Given the description of an element on the screen output the (x, y) to click on. 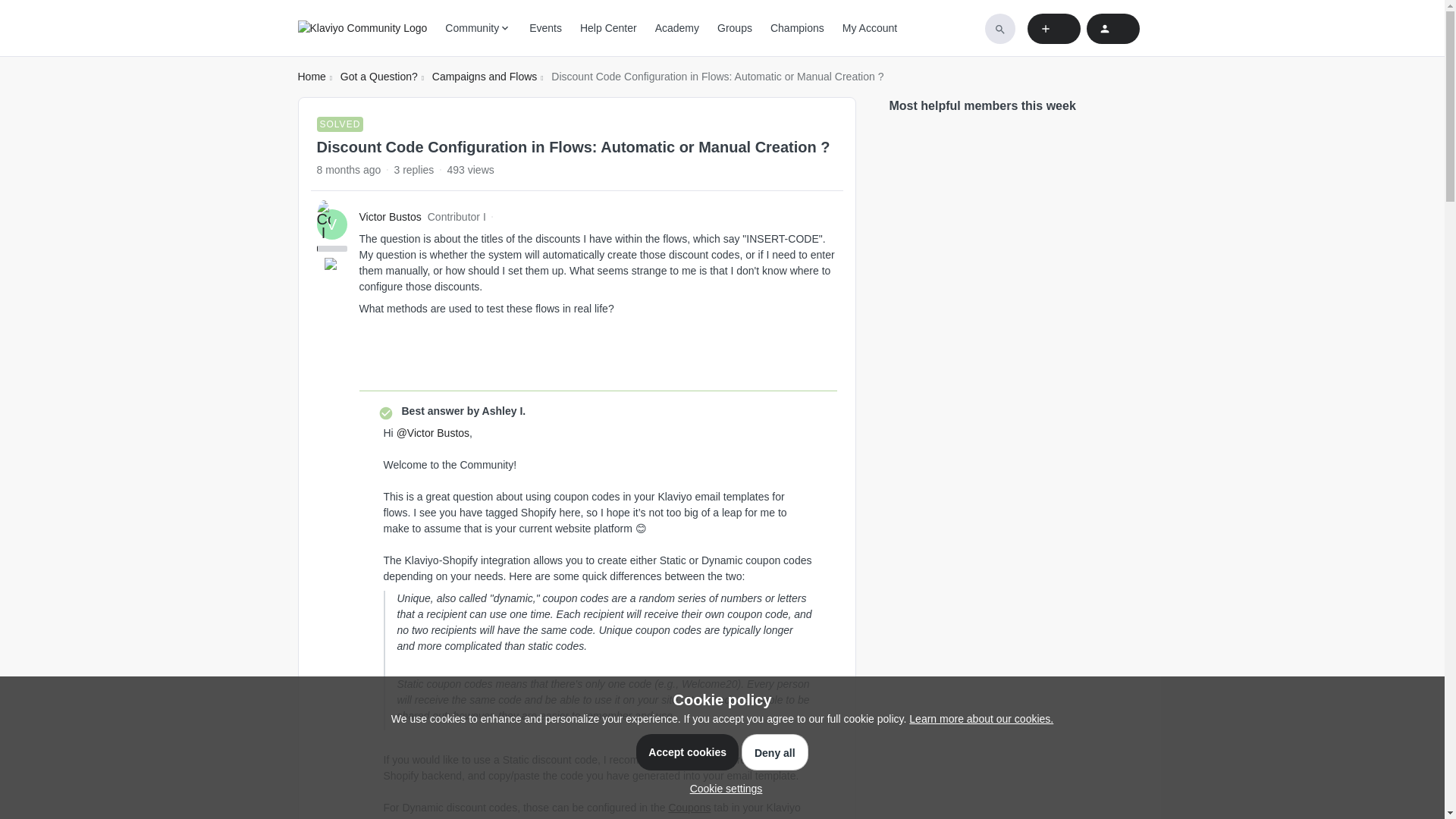
Groups (734, 28)
Help Center (608, 28)
Community (478, 28)
Academy (676, 28)
My Account (869, 28)
Champions (797, 28)
Got a Question? (378, 76)
Events (545, 28)
Home (310, 76)
